Given the description of an element on the screen output the (x, y) to click on. 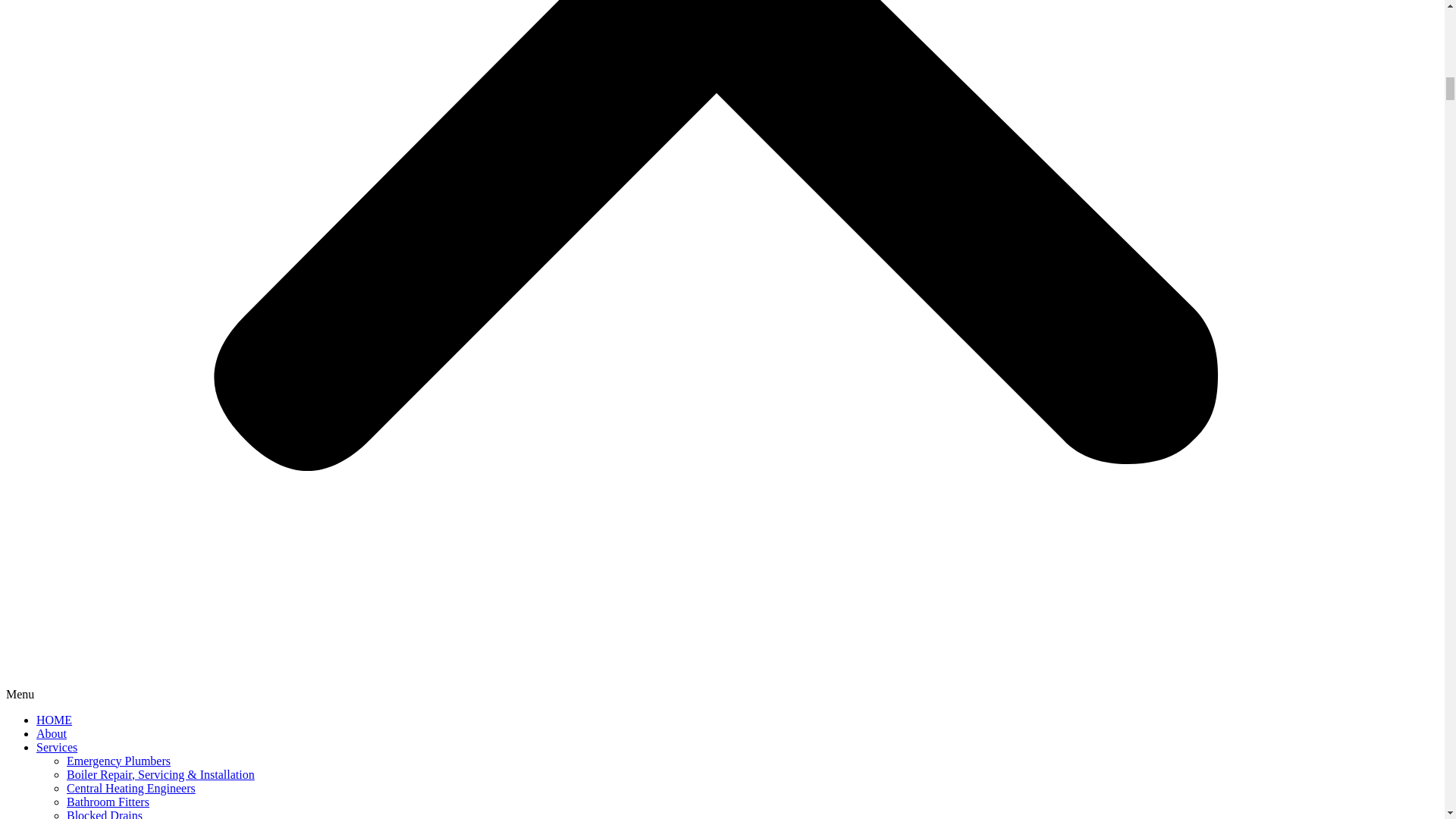
Central Heating Engineers (130, 787)
Bathroom Fitters (107, 800)
Emergency Plumbers (118, 759)
Blocked Drains (104, 813)
Services (56, 746)
HOME (53, 718)
About (51, 732)
